Given the description of an element on the screen output the (x, y) to click on. 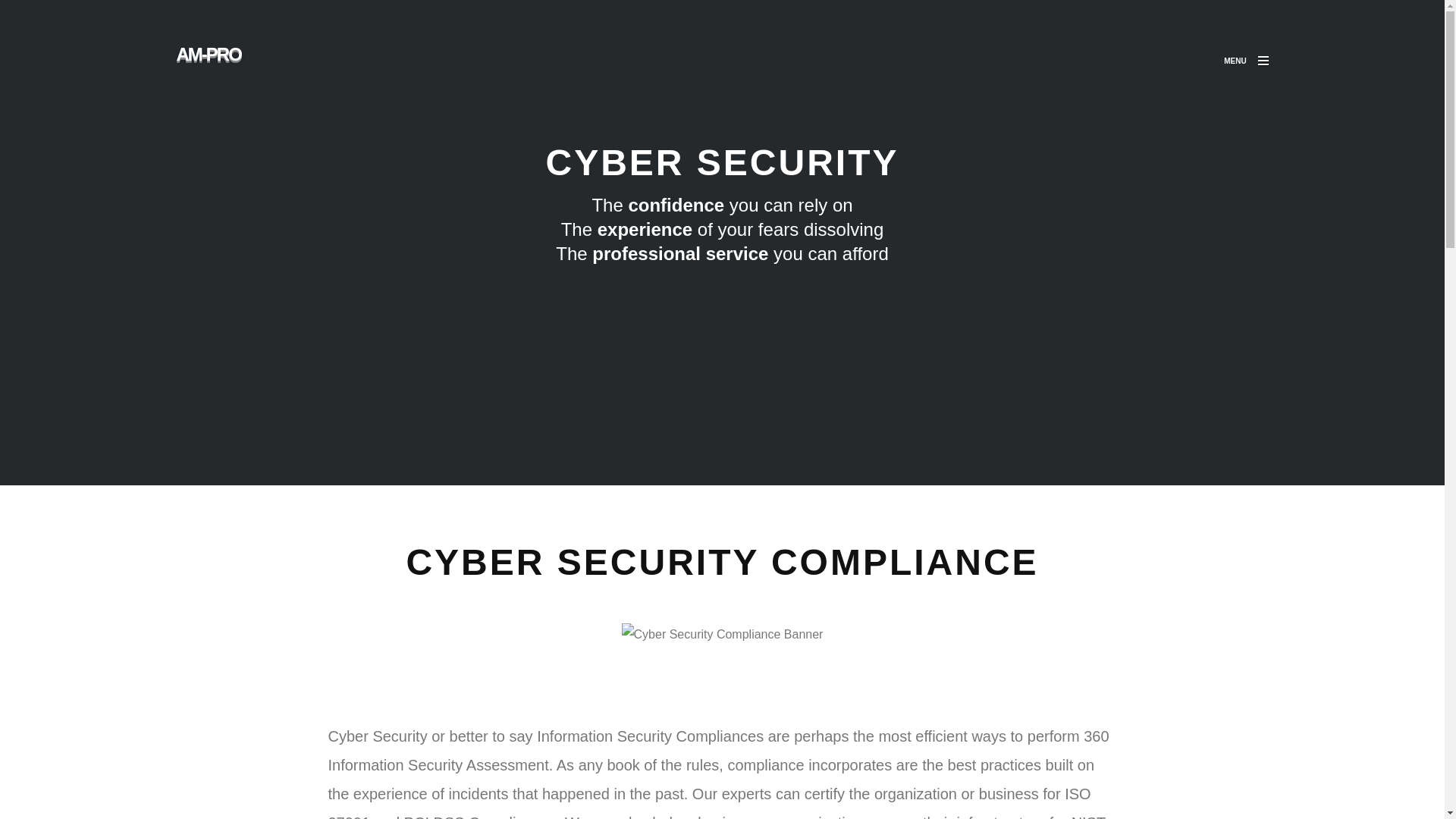
AM-PRO (213, 60)
Cyber Security Compliance Banner (722, 634)
